Given the description of an element on the screen output the (x, y) to click on. 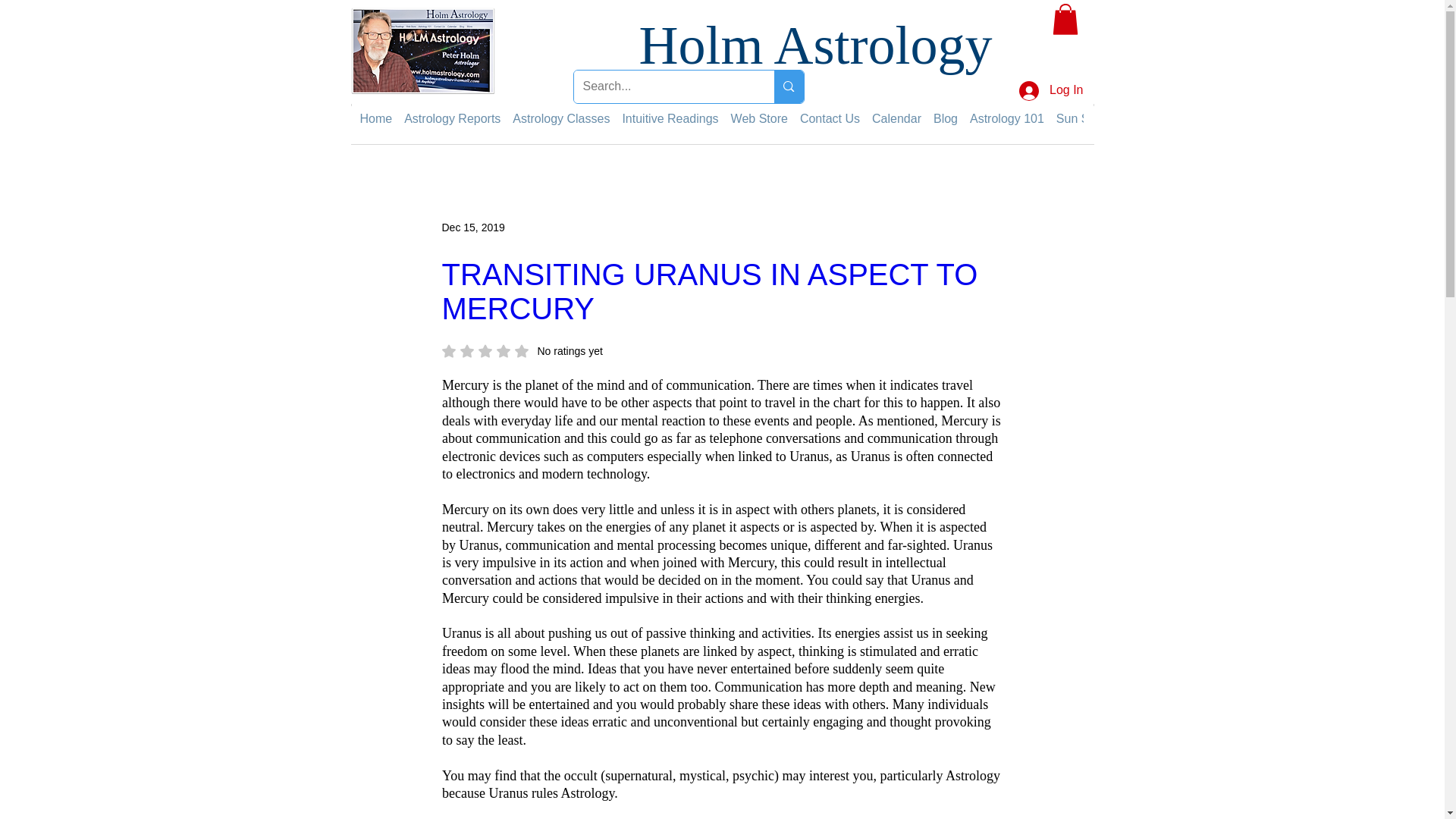
Dec 15, 2019 (472, 227)
Astrology Classes (561, 118)
Sun Signs (1084, 118)
Astrology Reports (452, 118)
Calendar (896, 118)
Contact Us (829, 118)
Home (375, 118)
Log In (1051, 90)
Blog (945, 118)
